Given the description of an element on the screen output the (x, y) to click on. 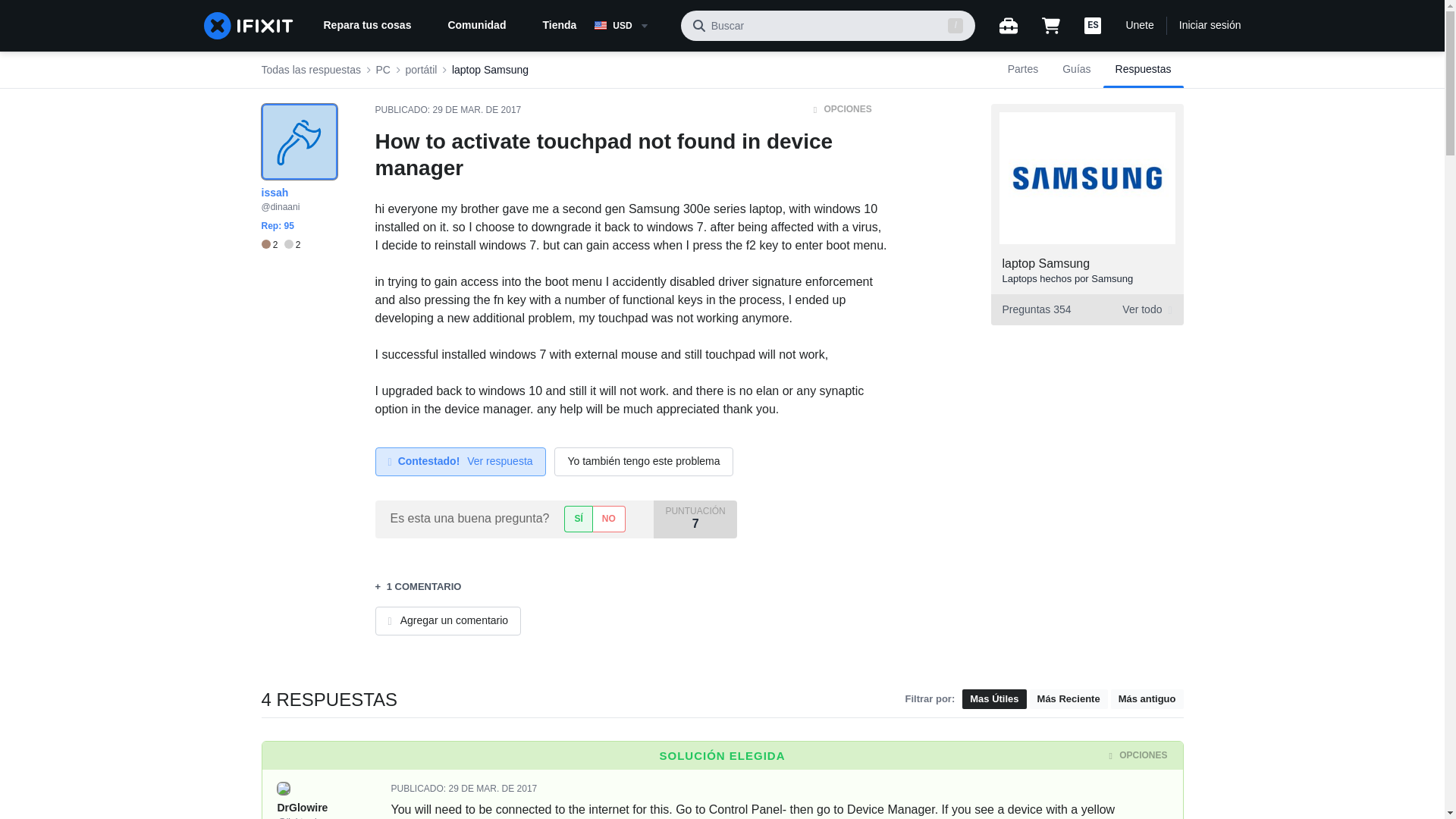
2 insignias de Bronce (271, 245)
Contestado! Ver respuesta (1086, 309)
Respuestas (459, 461)
Wed, 29 Mar 2017 13:08:54 -0700 (1143, 69)
laptop Samsung (492, 787)
laptop Samsung (489, 69)
PC (1046, 263)
Wed, 29 Mar 2017 12:18:24 -0700 (382, 69)
Unete (476, 109)
